Given the description of an element on the screen output the (x, y) to click on. 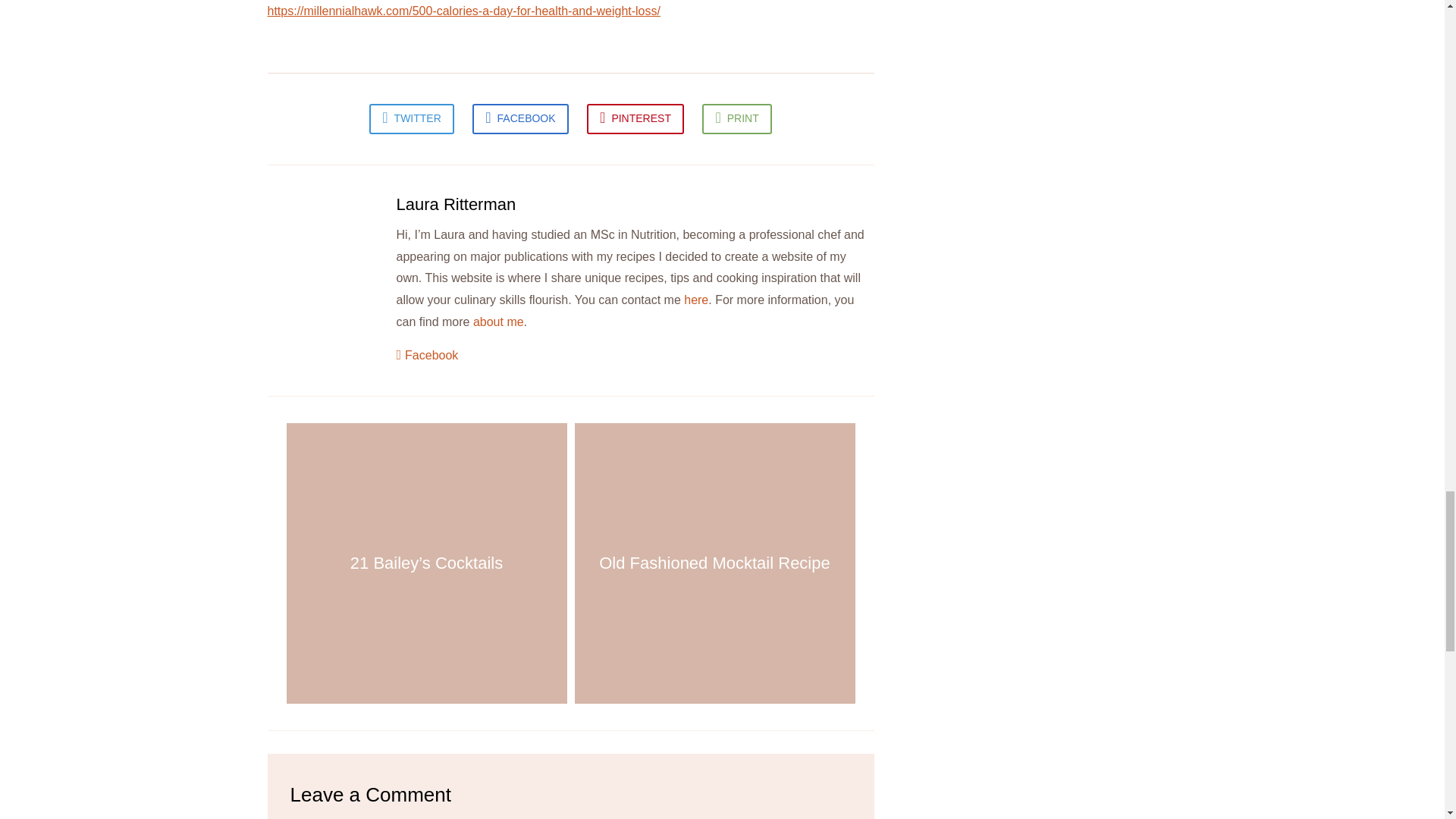
Tweet this on Twitter (411, 119)
Share this on Facebook (519, 119)
Print this Page (736, 119)
Pin it to Pinterest (635, 119)
Posts by Laura Ritterman (455, 203)
